Given the description of an element on the screen output the (x, y) to click on. 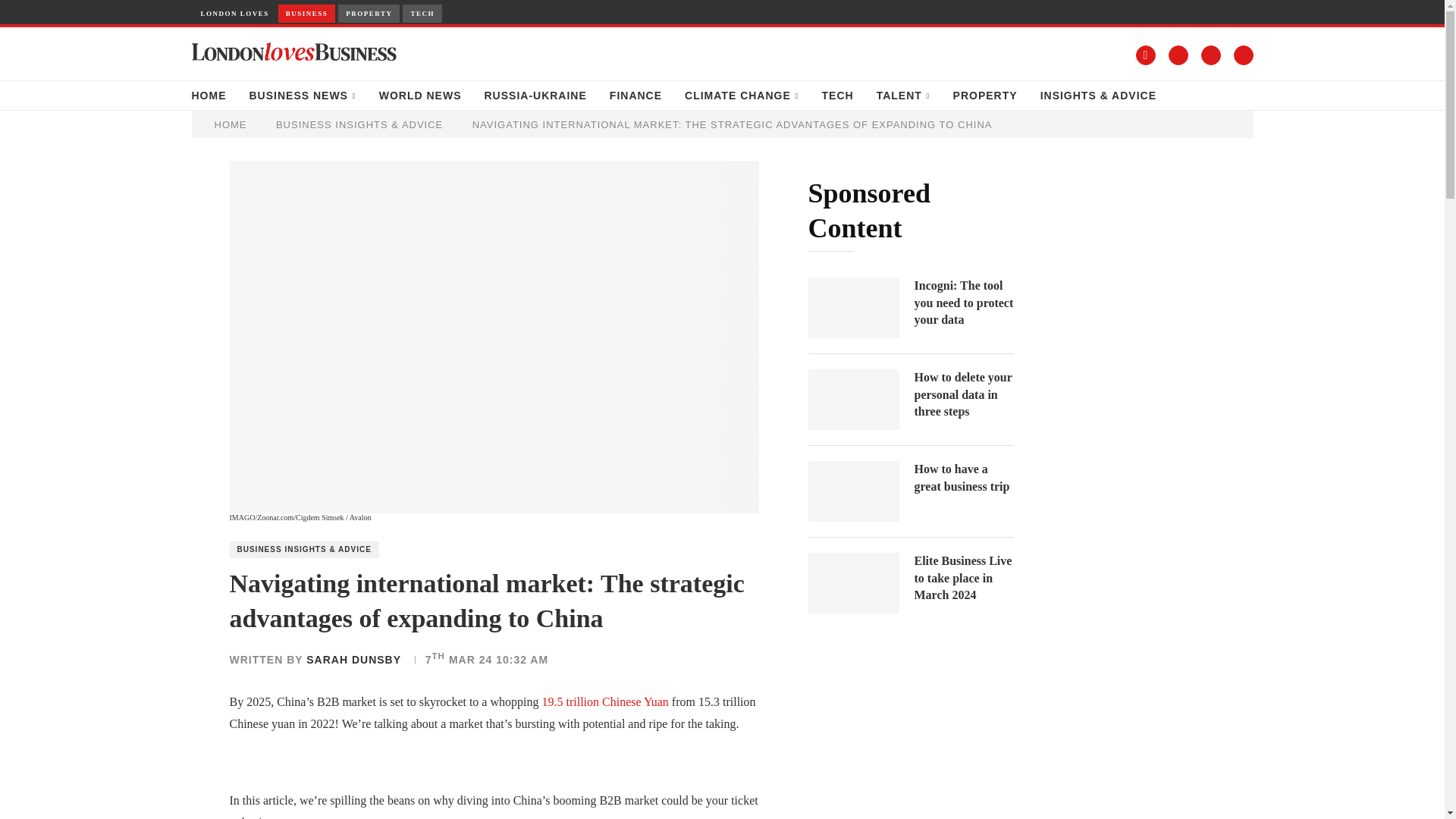
How to have a great business trip (963, 478)
How to have a great business trip (853, 491)
How to delete your personal data in three steps (963, 394)
How to delete your personal data in three steps (853, 399)
Incogni: The tool you need to protect your data (853, 307)
Elite Business Live to take place in March 2024 (963, 577)
Incogni: The tool you need to protect your data (963, 302)
Elite Business Live to take place in March 2024 (853, 582)
